Given the description of an element on the screen output the (x, y) to click on. 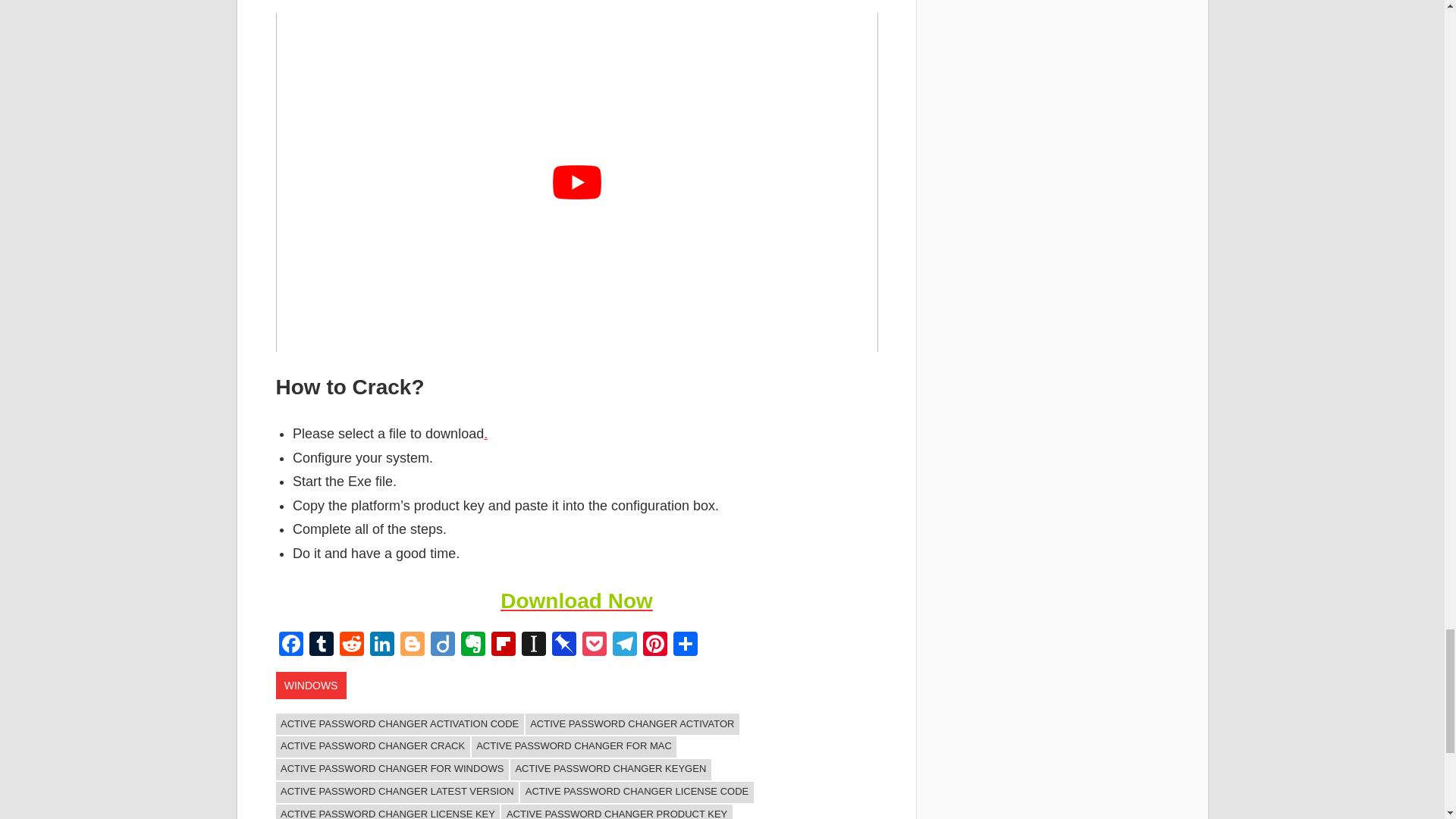
Flipboard (502, 645)
Pinboard (563, 645)
Tumblr (320, 645)
Diigo (443, 645)
Flipboard (502, 645)
Evernote (472, 645)
Blogger (412, 645)
LinkedIn (381, 645)
Download Now (576, 600)
Evernote (472, 645)
